Given the description of an element on the screen output the (x, y) to click on. 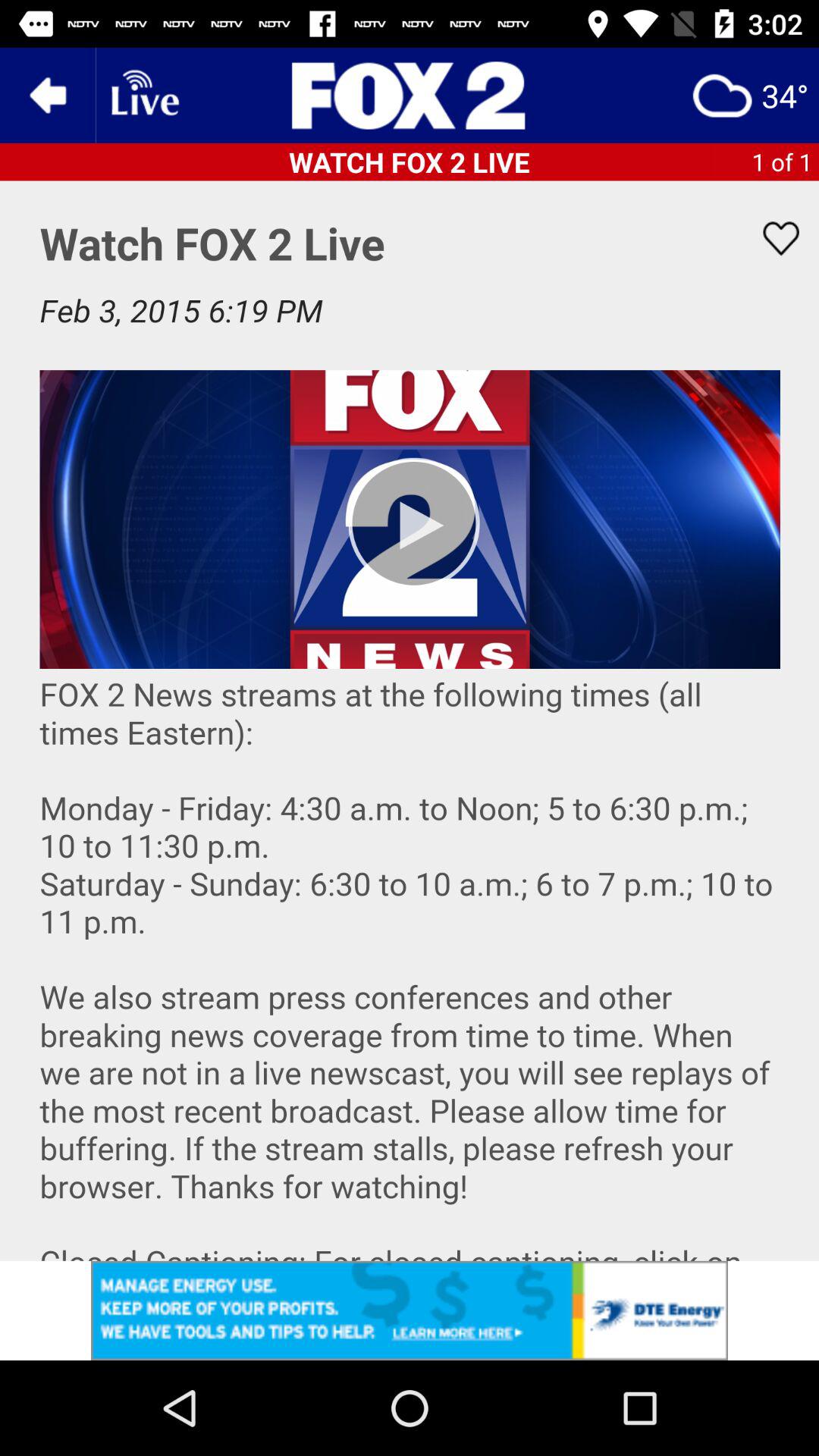
save to favorites (771, 238)
